Given the description of an element on the screen output the (x, y) to click on. 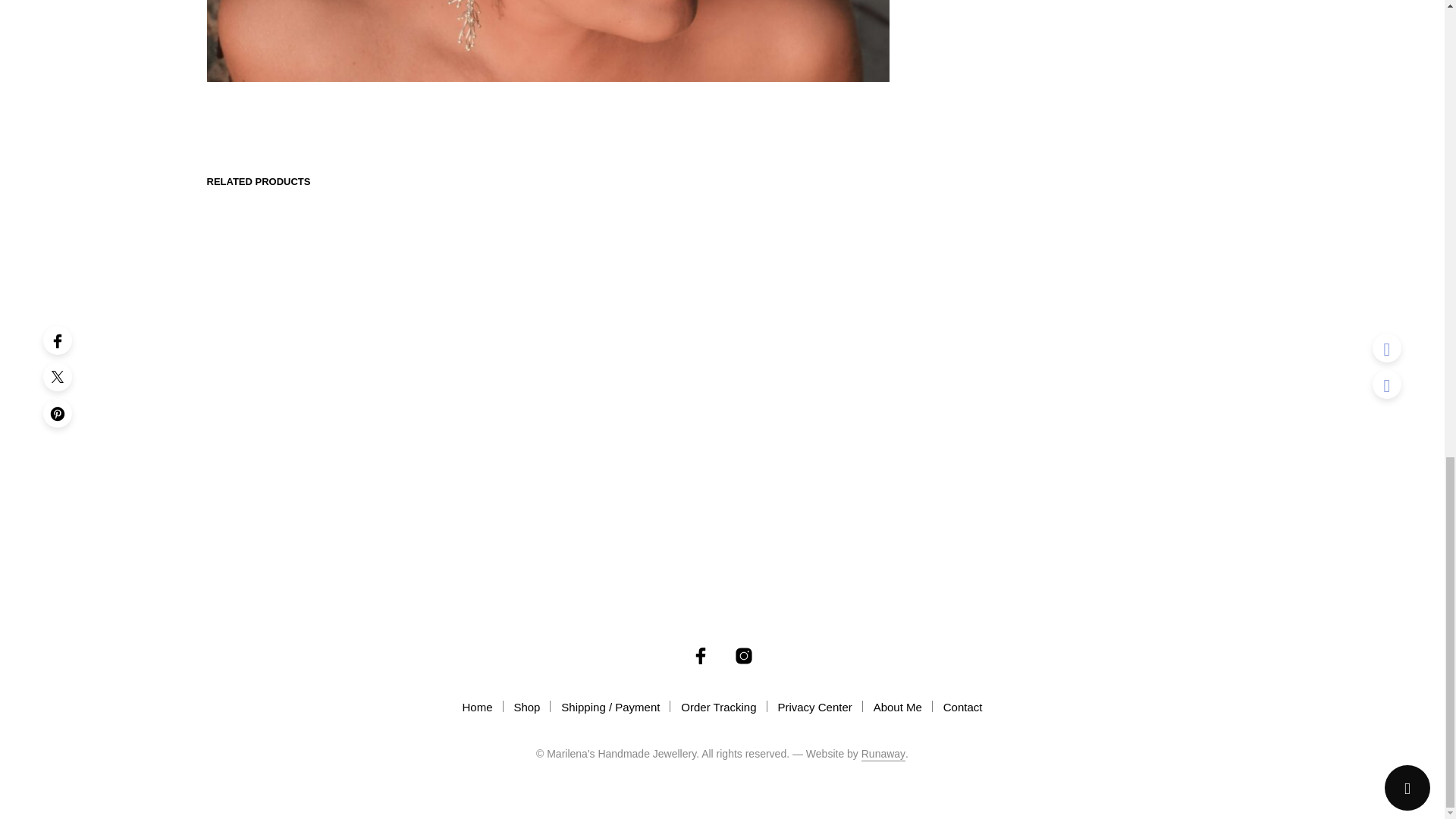
EARRINGS (1070, 108)
ADD TO WISHLIST (1046, 509)
1 (1010, 456)
contact us (1041, 413)
HOME (992, 108)
SHOP (1028, 108)
ADD TO BASKET (1141, 456)
